Given the description of an element on the screen output the (x, y) to click on. 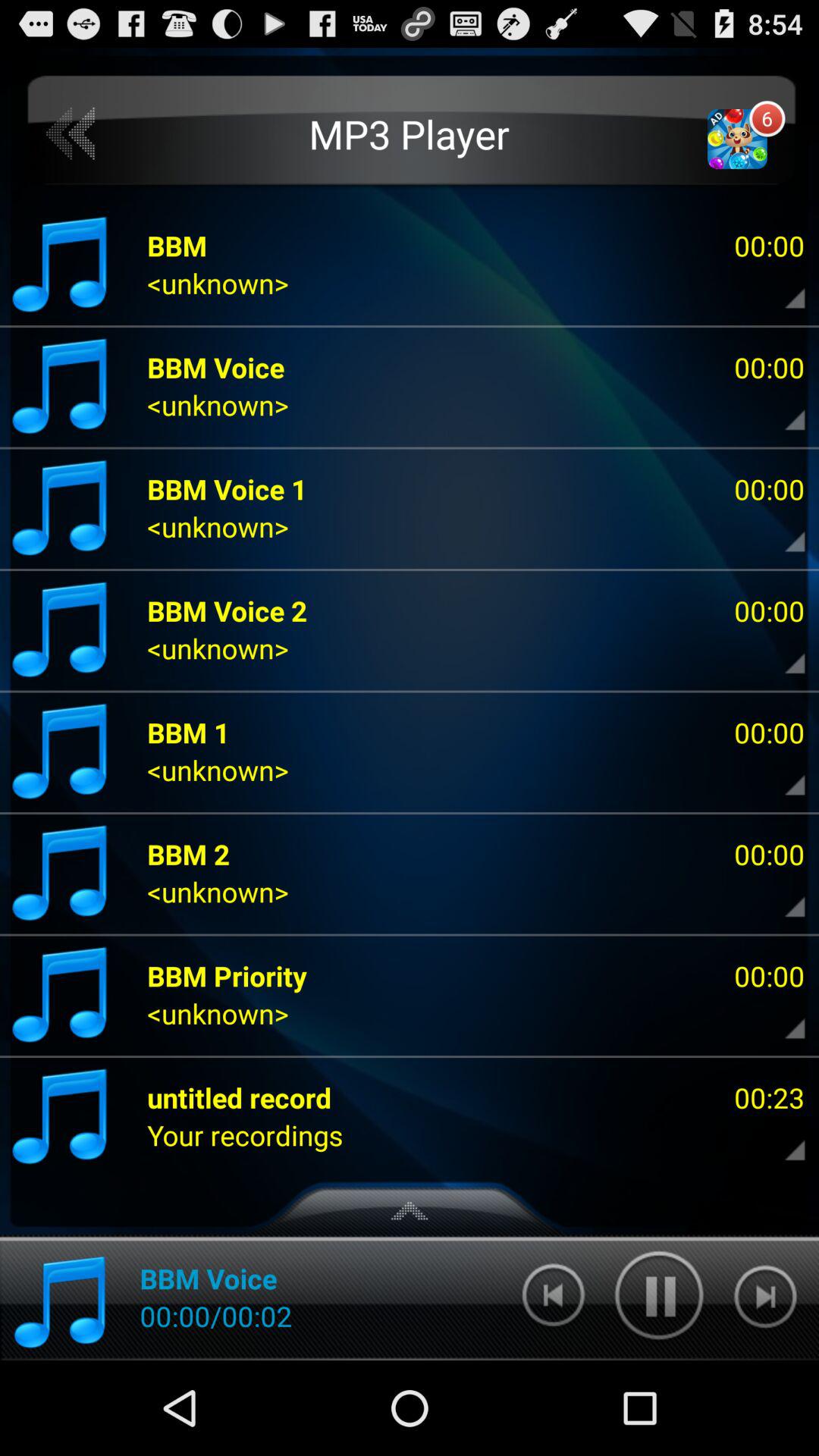
press the item next to the 00:23 item (239, 1097)
